Given the description of an element on the screen output the (x, y) to click on. 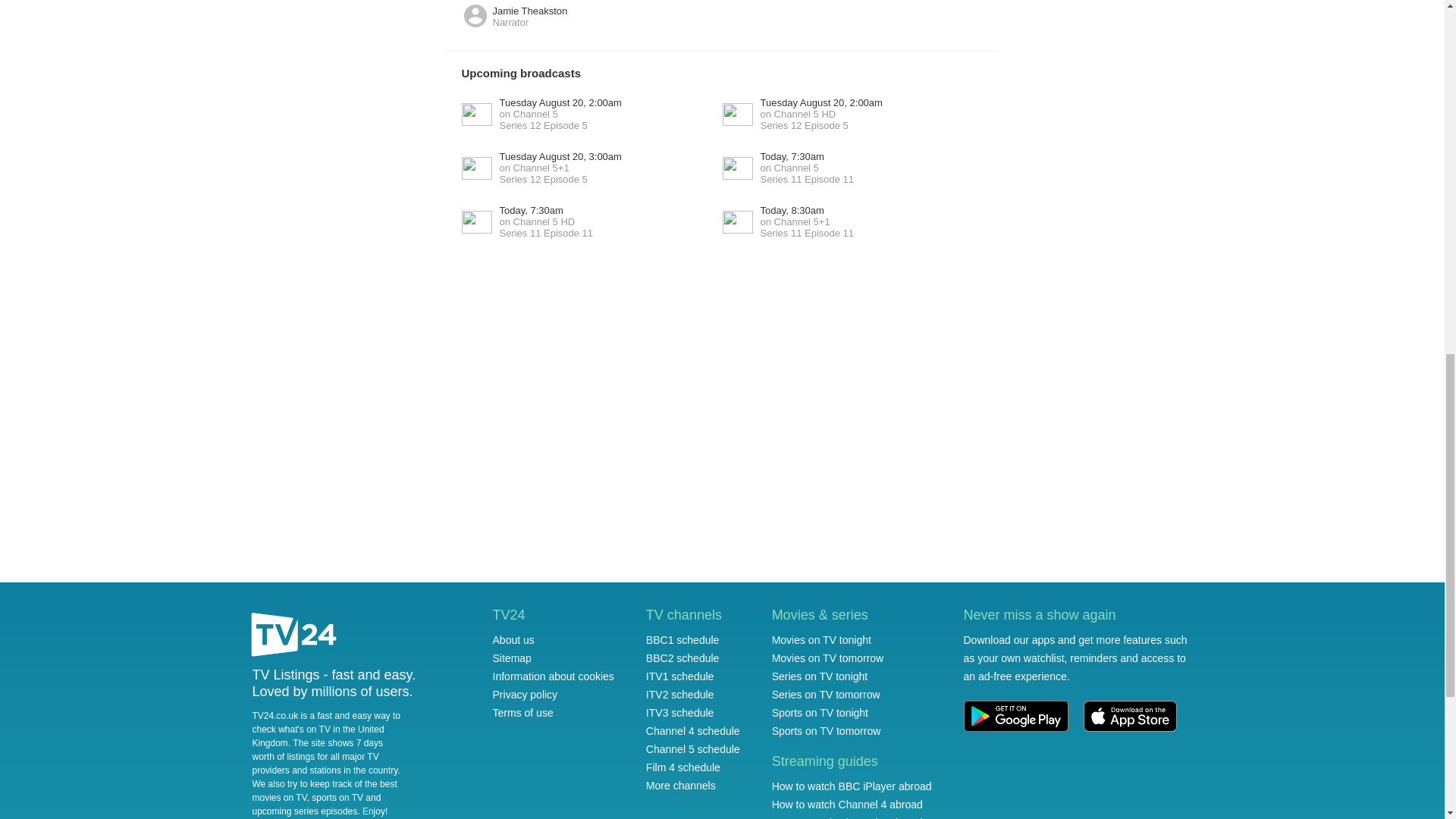
ITV1 schedule (541, 113)
ITV2 schedule (680, 676)
Channel 4 schedule (680, 694)
ITV3 schedule (692, 730)
Film 4 schedule (680, 712)
ITV3 schedule (683, 767)
sports on TV (680, 712)
Information about cookies (787, 167)
